Given the description of an element on the screen output the (x, y) to click on. 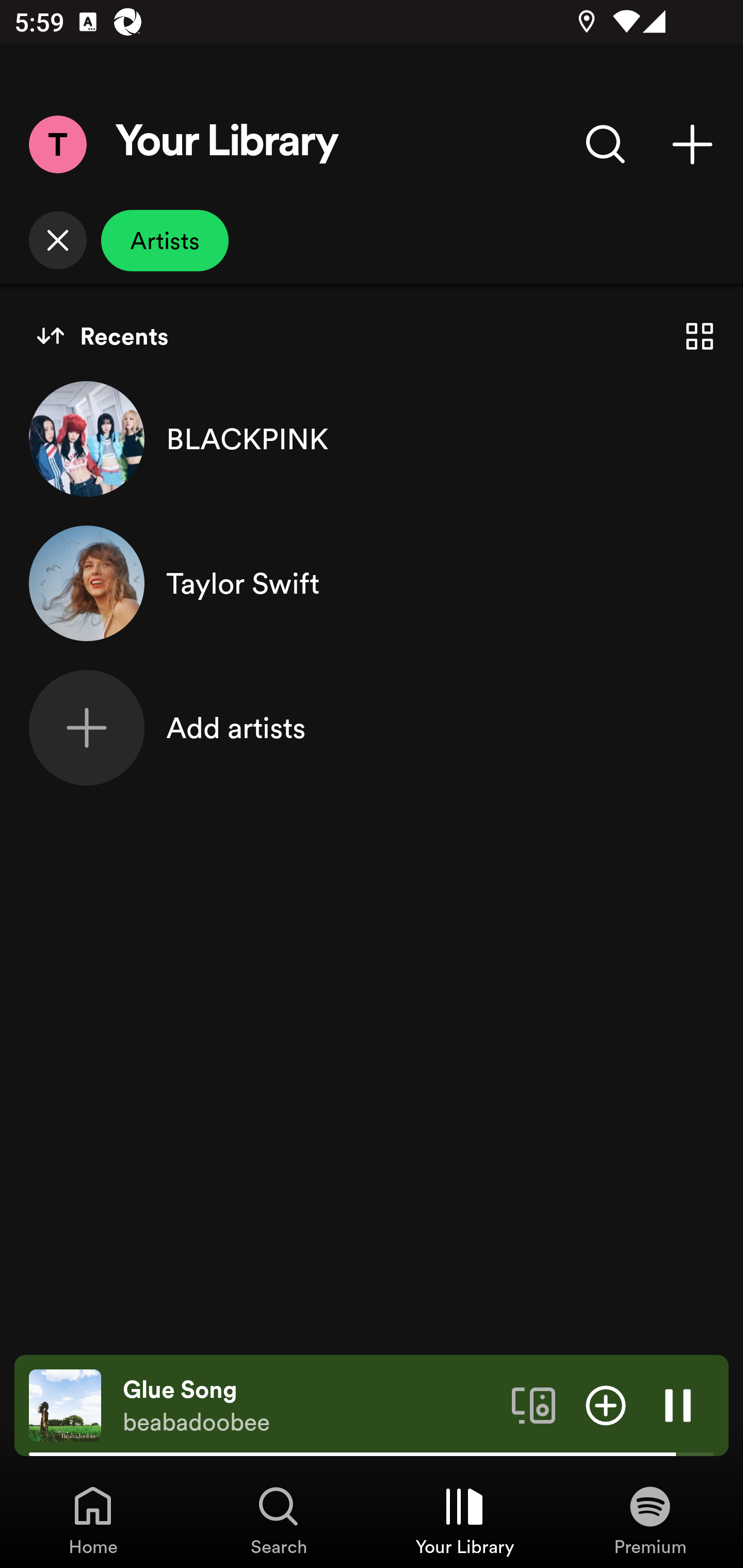
Menu (57, 144)
Search Your Library (605, 144)
Create playlist (692, 144)
Your Library Your Library Heading (226, 144)
Clear Filters (57, 240)
Artists, show only artists. (164, 240)
Recents (101, 336)
Show Grid view (699, 336)
BLACKPINK,  BLACKPINK (371, 439)
Taylor Swift,  Taylor Swift (371, 583)
Add artists,  Add artists (371, 727)
Glue Song beabadoobee (309, 1405)
The cover art of the currently playing track (64, 1404)
Connect to a device. Opens the devices menu (533, 1404)
Add item (605, 1404)
Pause (677, 1404)
Home, Tab 1 of 4 Home Home (92, 1519)
Search, Tab 2 of 4 Search Search (278, 1519)
Your Library, Tab 3 of 4 Your Library Your Library (464, 1519)
Premium, Tab 4 of 4 Premium Premium (650, 1519)
